Given the description of an element on the screen output the (x, y) to click on. 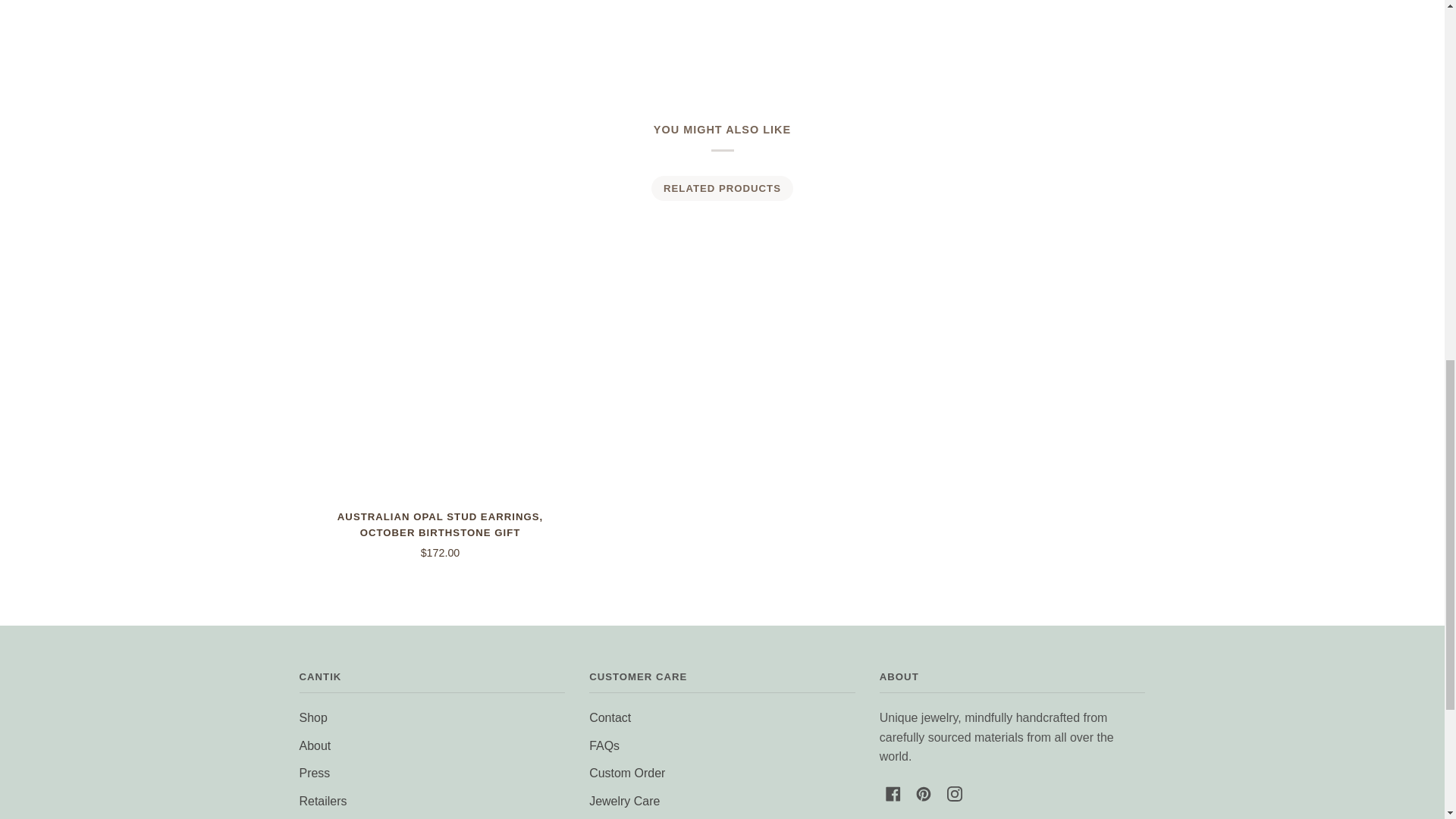
RELATED PRODUCTS (721, 188)
Instagram (954, 793)
Pinterest (923, 793)
Facebook (893, 793)
